Given the description of an element on the screen output the (x, y) to click on. 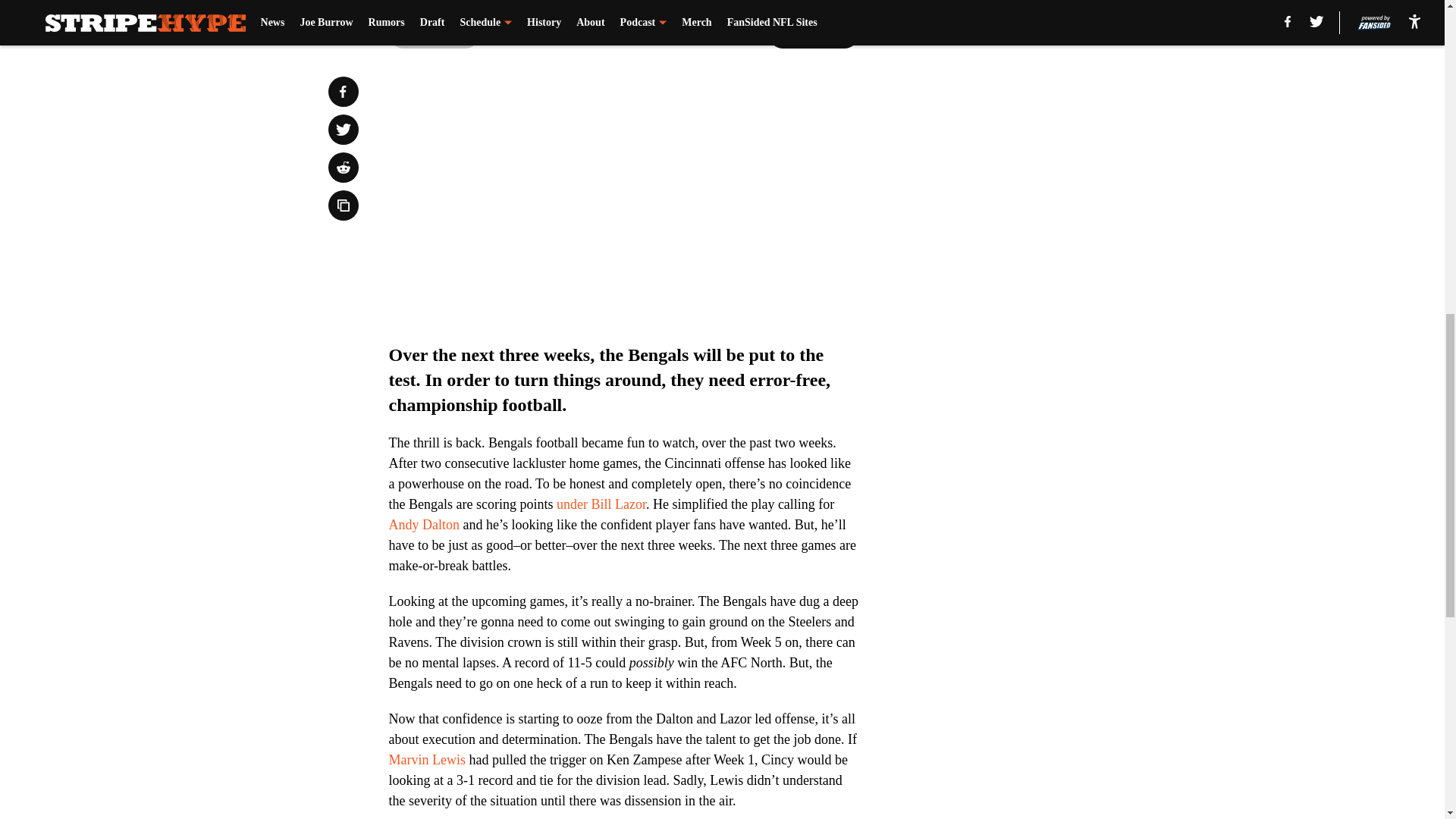
Next (813, 33)
Marvin Lewis (426, 759)
Prev (433, 33)
Andy Dalton (424, 524)
under Bill Lazor (601, 503)
